Given the description of an element on the screen output the (x, y) to click on. 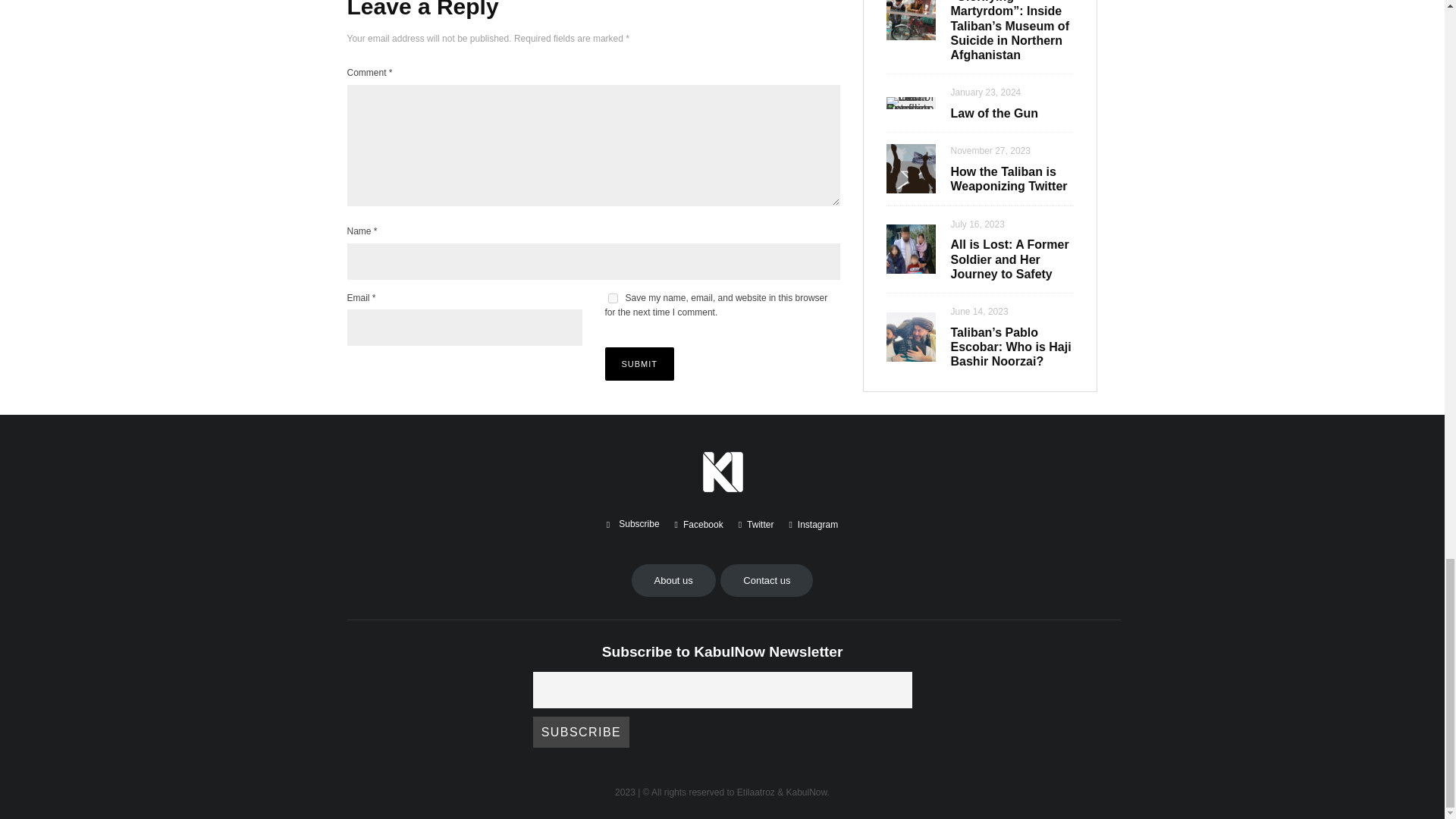
Subscribe (580, 731)
yes (612, 298)
Submit (640, 363)
